Given the description of an element on the screen output the (x, y) to click on. 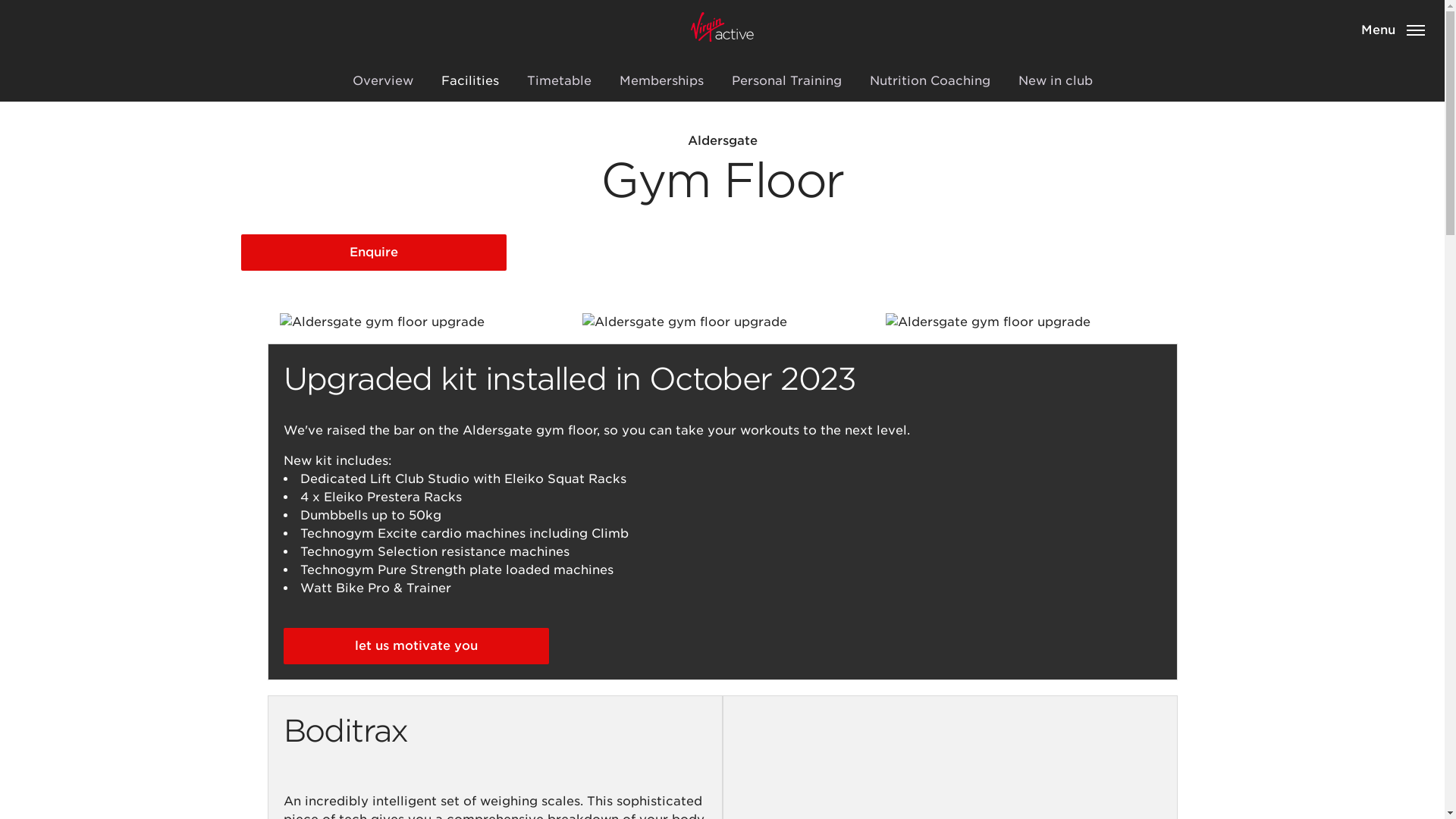
Overview (382, 80)
let us motivate you (415, 646)
Personal Training (786, 80)
Enquire (373, 252)
Facilities (470, 80)
Nutrition Coaching (929, 80)
Timetable (557, 80)
Memberships (660, 80)
New in club (1054, 80)
